Given the description of an element on the screen output the (x, y) to click on. 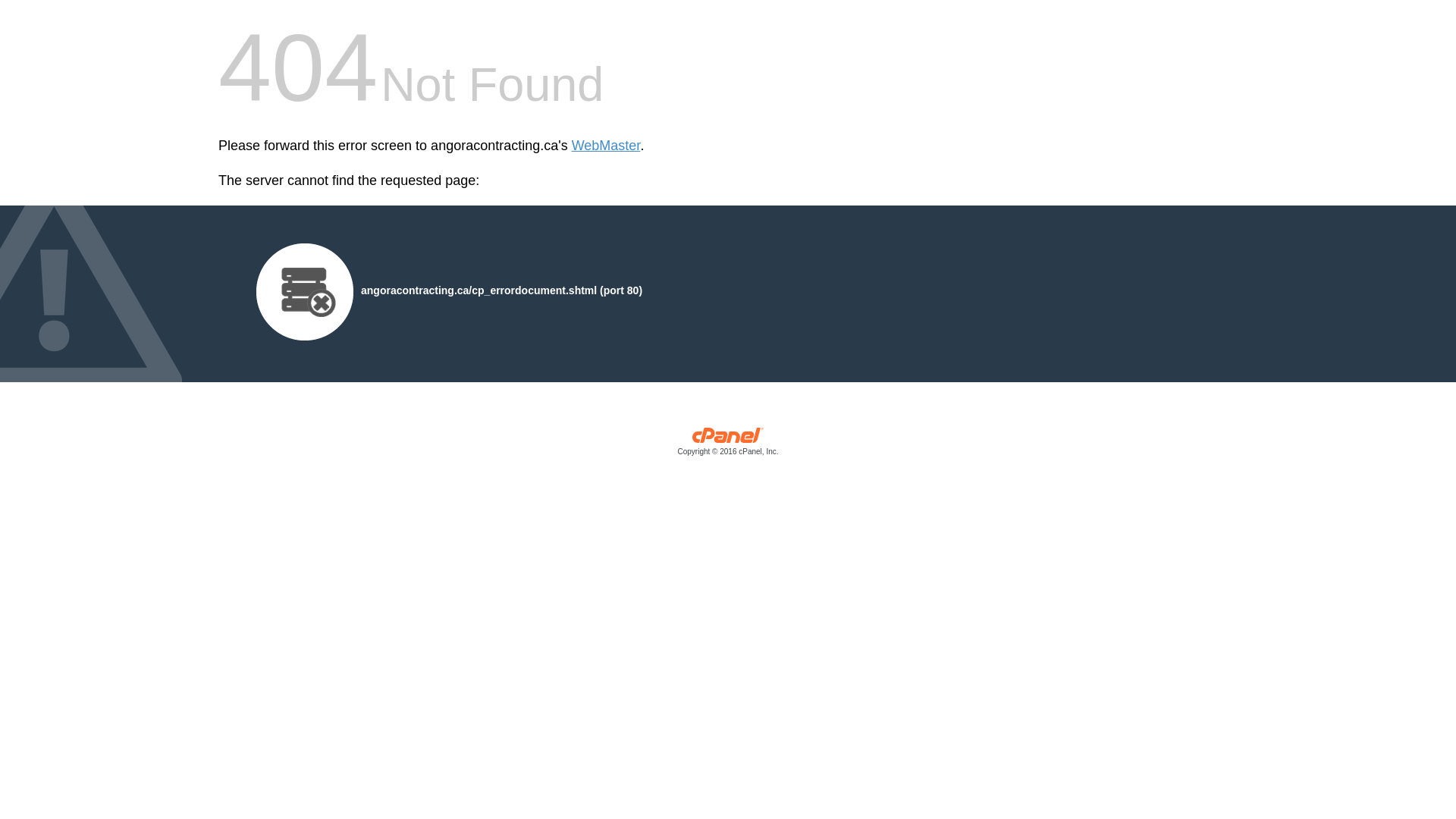
WebMaster Element type: text (605, 145)
